Given the description of an element on the screen output the (x, y) to click on. 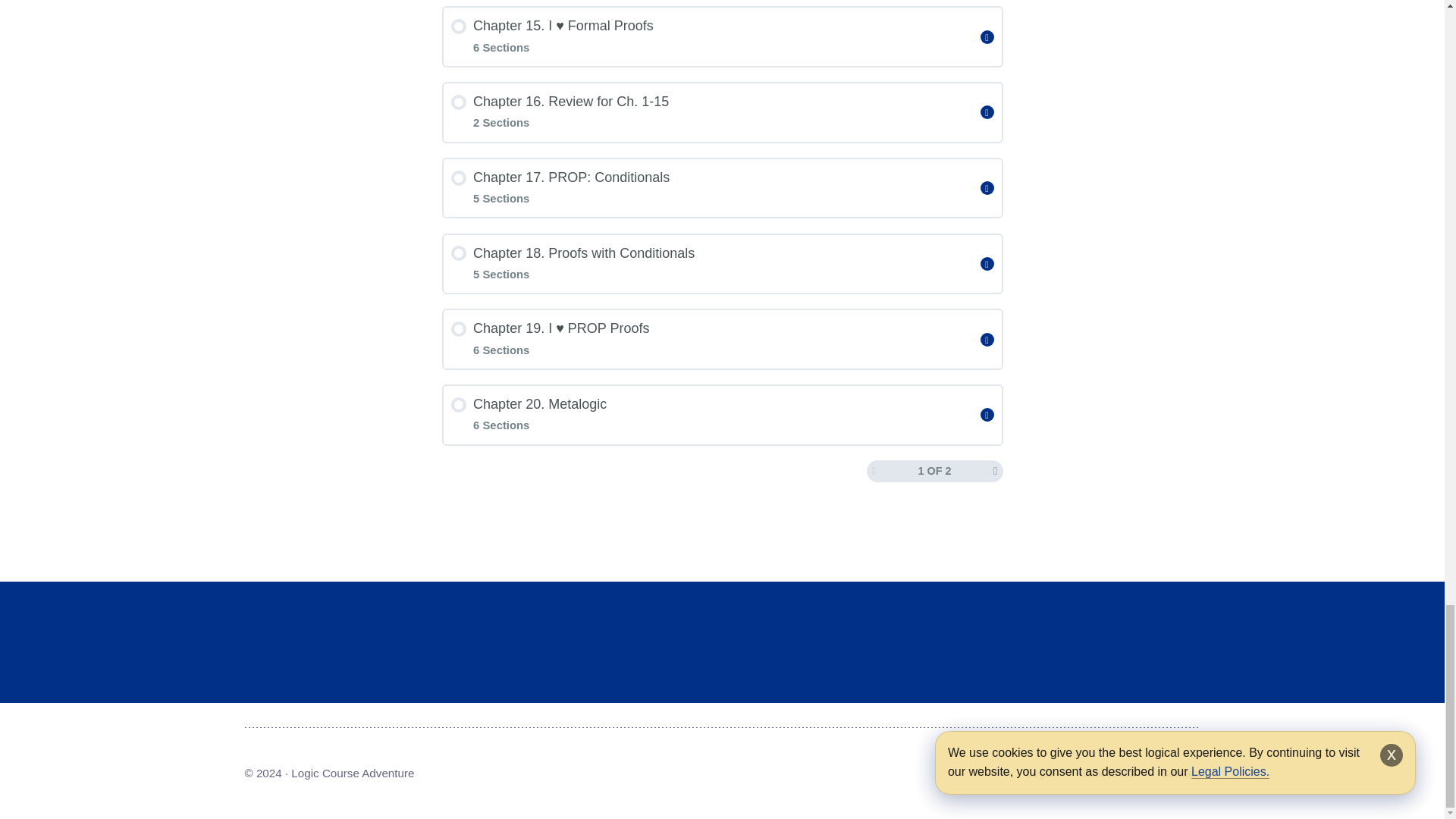
Previous Page (874, 470)
Next Page (994, 470)
